Given the description of an element on the screen output the (x, y) to click on. 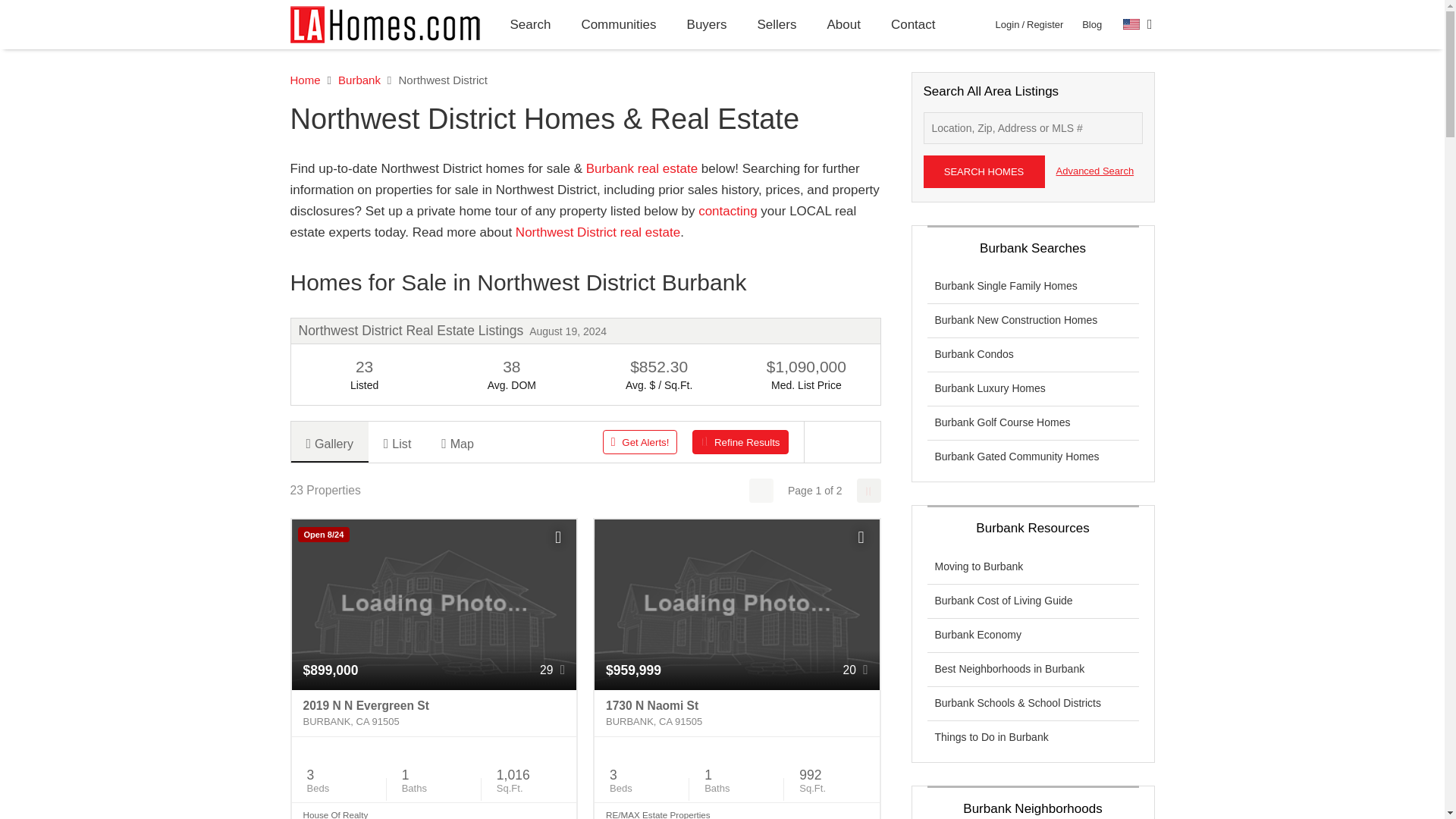
Blog (1091, 24)
1730 N Naomi St Burbank,  CA 91505 (736, 713)
Communities (618, 24)
Buyers (706, 24)
2019 N N Evergreen St Burbank,  CA 91505 (433, 713)
Sellers (775, 24)
Contact (913, 24)
Register (1044, 24)
Select Language (1137, 24)
About (842, 24)
